Given the description of an element on the screen output the (x, y) to click on. 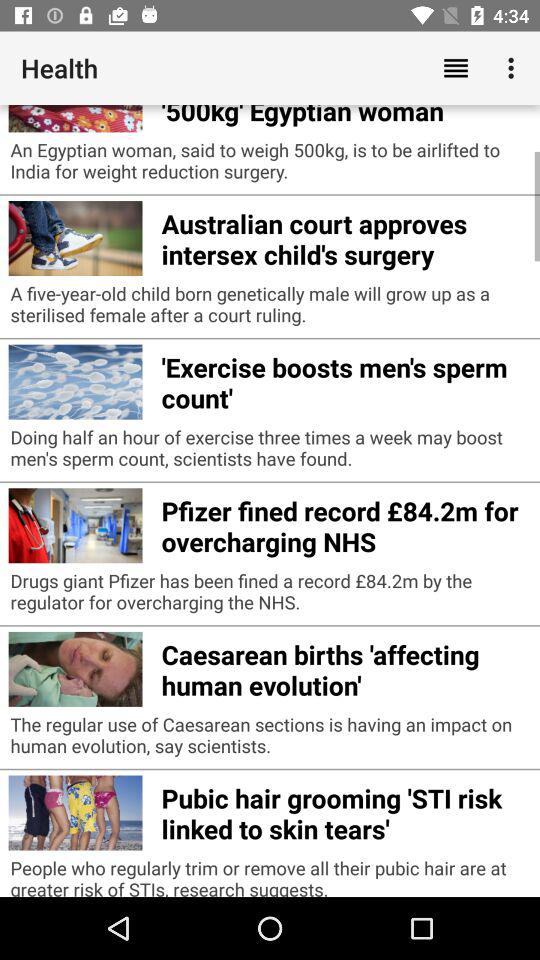
flip to the doing half an app (270, 452)
